Given the description of an element on the screen output the (x, y) to click on. 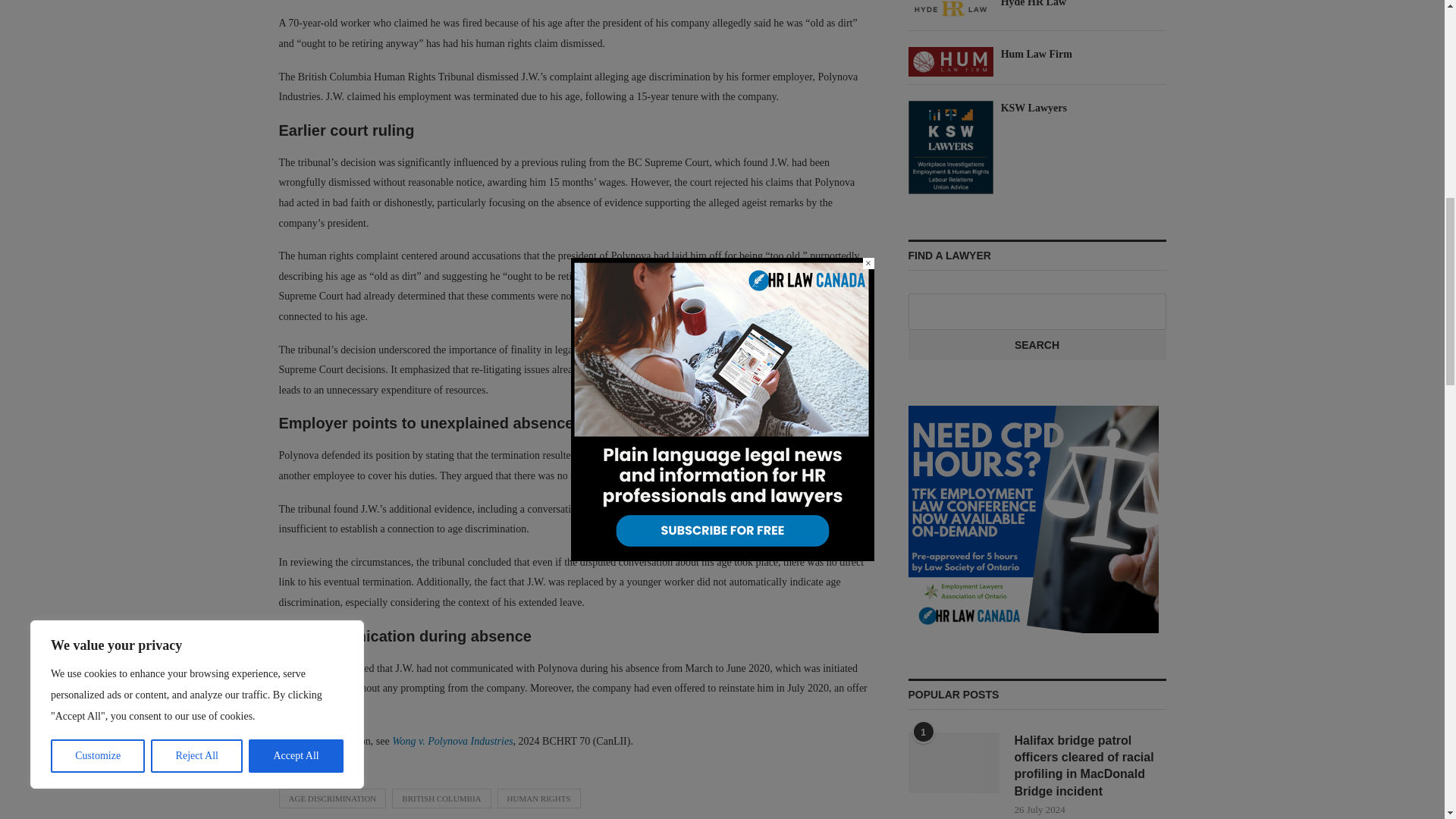
Search (1037, 345)
Search (1037, 345)
